Given the description of an element on the screen output the (x, y) to click on. 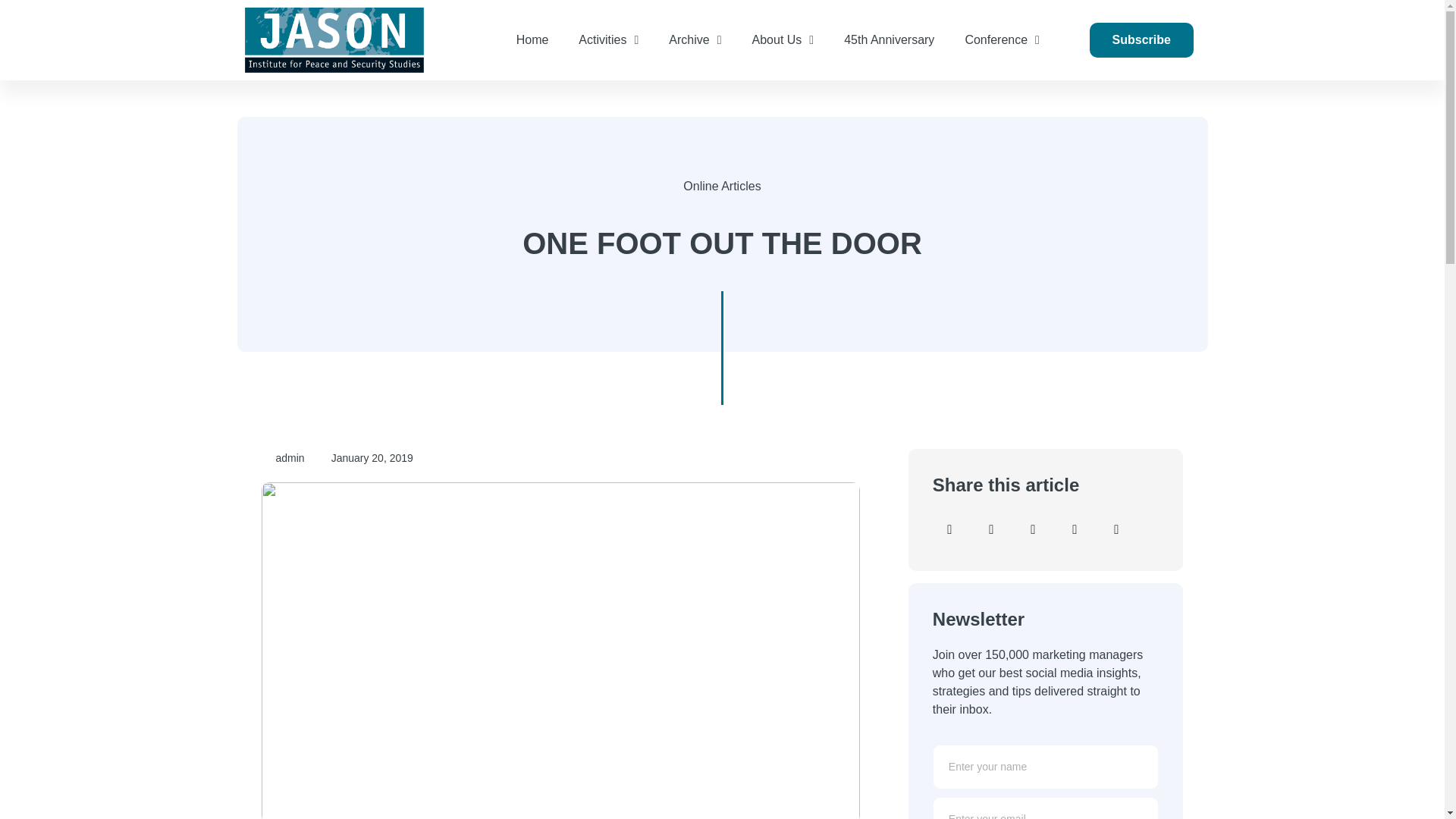
45th Anniversary (888, 39)
Conference (1001, 39)
Archive (694, 39)
Activities (608, 39)
Home (532, 39)
About Us (782, 39)
